Given the description of an element on the screen output the (x, y) to click on. 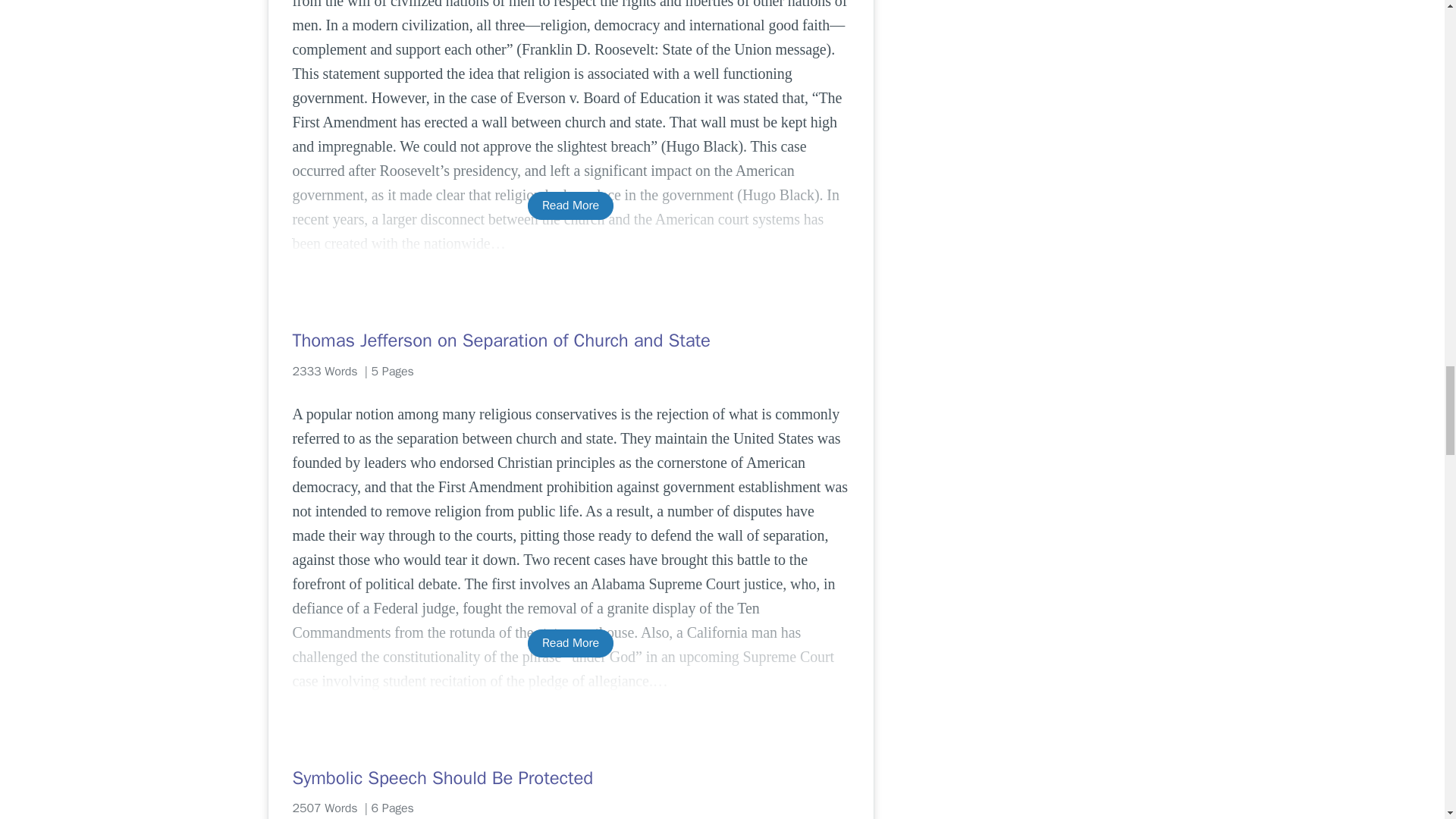
Read More (569, 205)
Thomas Jefferson on Separation of Church and State (570, 340)
Read More (569, 643)
Symbolic Speech Should Be Protected (570, 777)
